Given the description of an element on the screen output the (x, y) to click on. 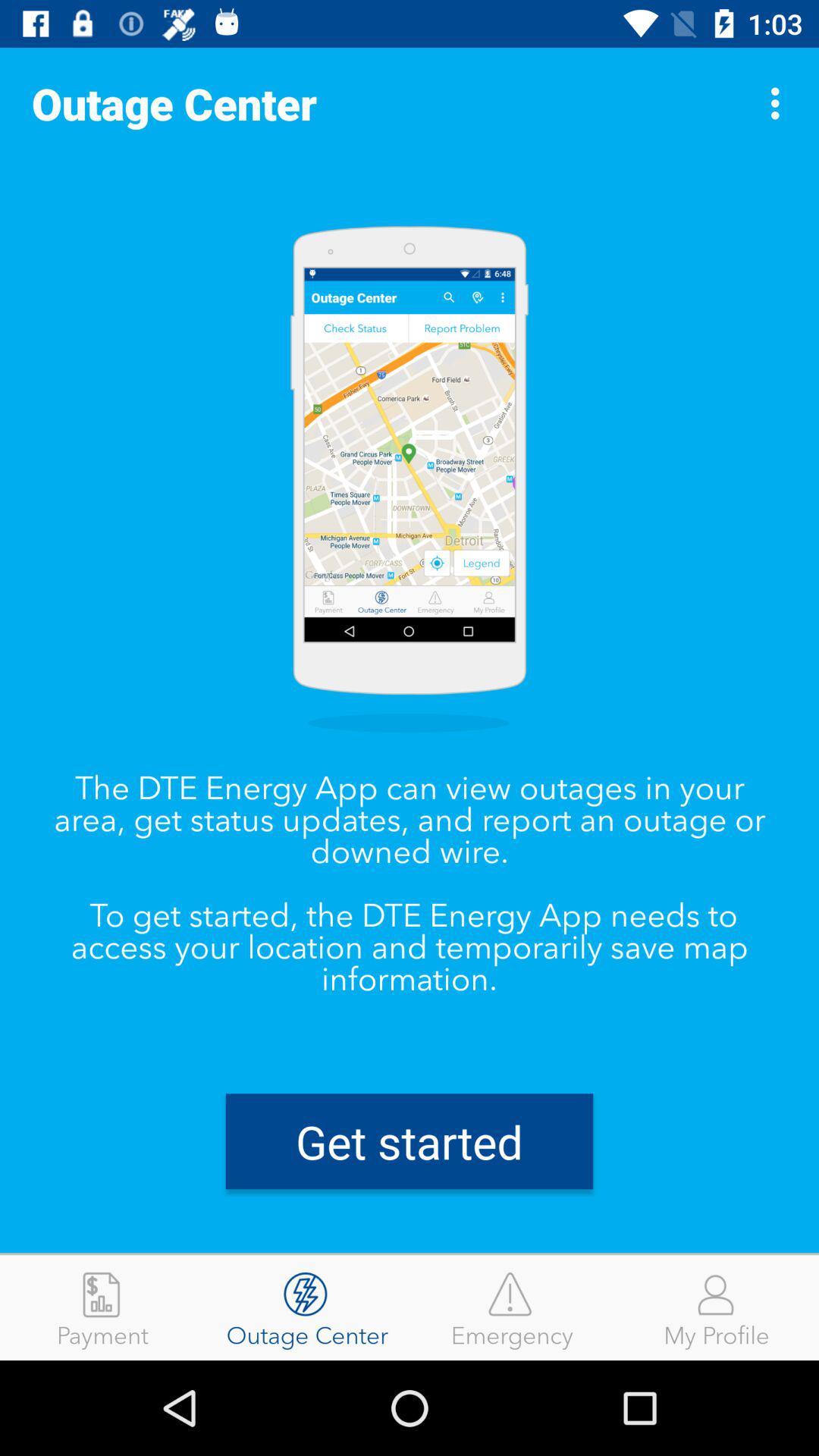
tap the my profile (716, 1307)
